Given the description of an element on the screen output the (x, y) to click on. 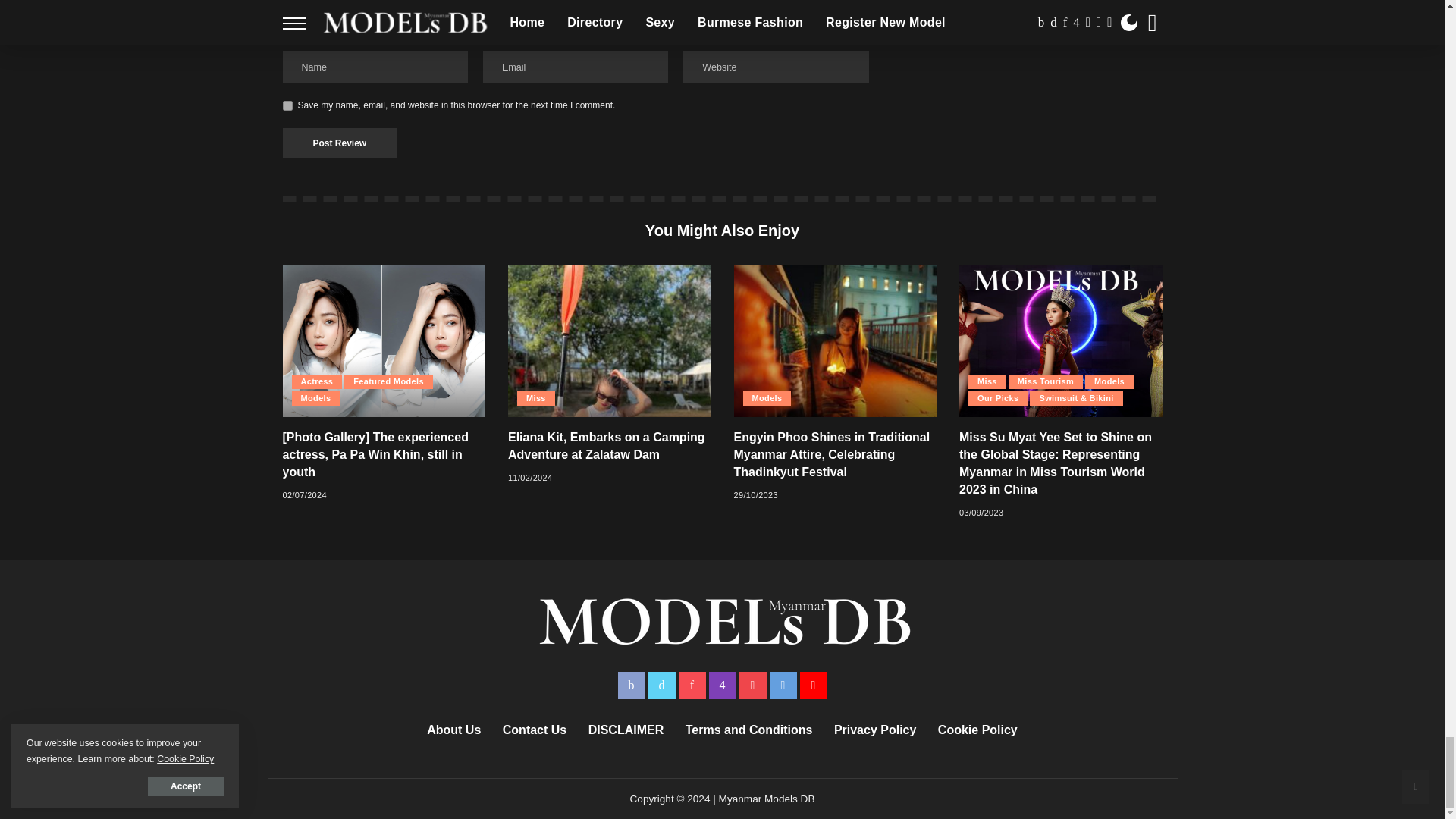
Post Review (339, 142)
yes (287, 105)
